Given the description of an element on the screen output the (x, y) to click on. 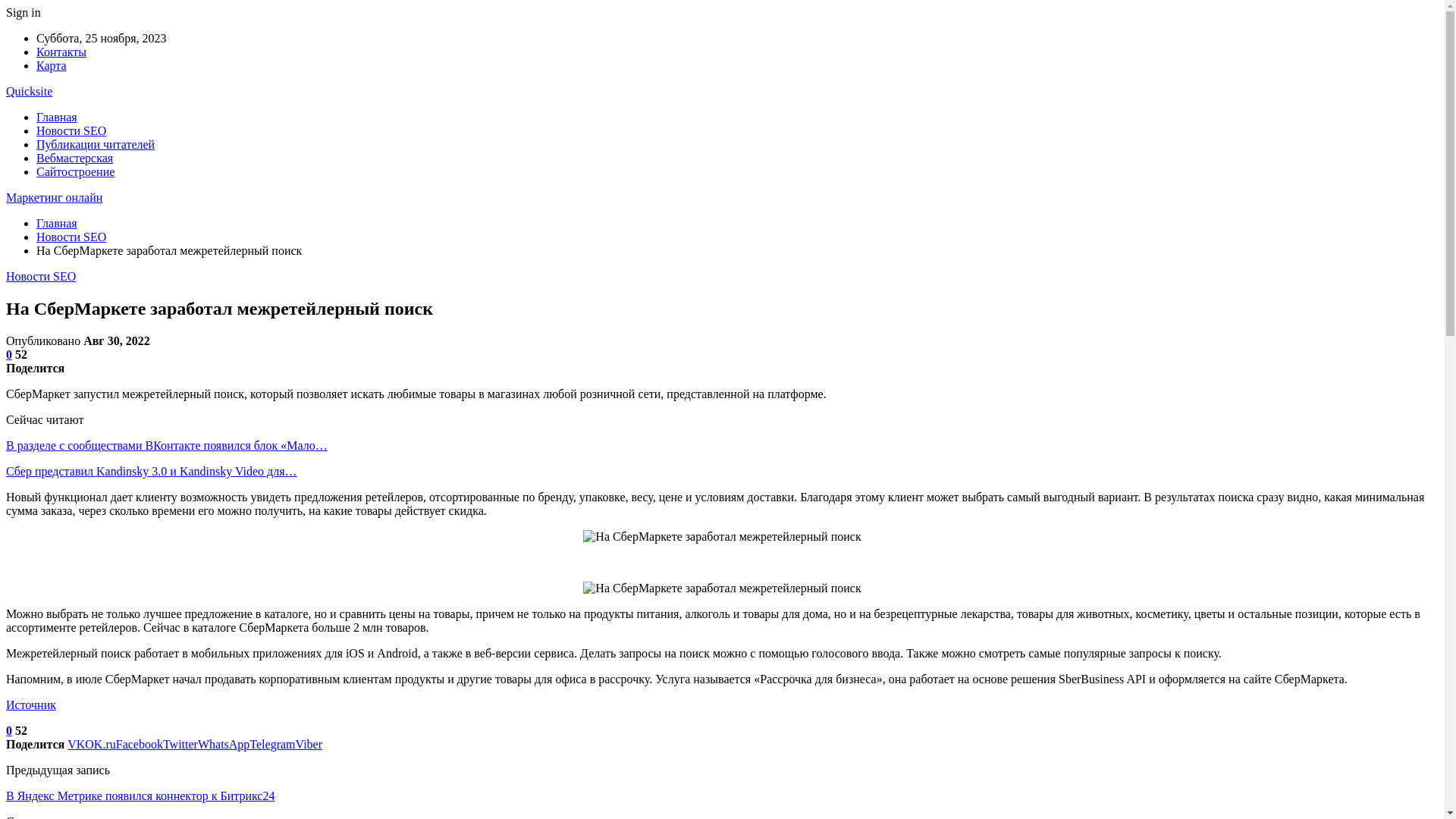
0 Element type: text (9, 354)
Quicksite Element type: text (29, 90)
Sign in Element type: text (23, 12)
OK.ru Element type: text (99, 743)
Telegram Element type: text (271, 743)
Facebook Element type: text (139, 743)
VK Element type: text (75, 743)
Viber Element type: text (308, 743)
Twitter Element type: text (180, 743)
WhatsApp Element type: text (223, 743)
0 Element type: text (9, 730)
